Given the description of an element on the screen output the (x, y) to click on. 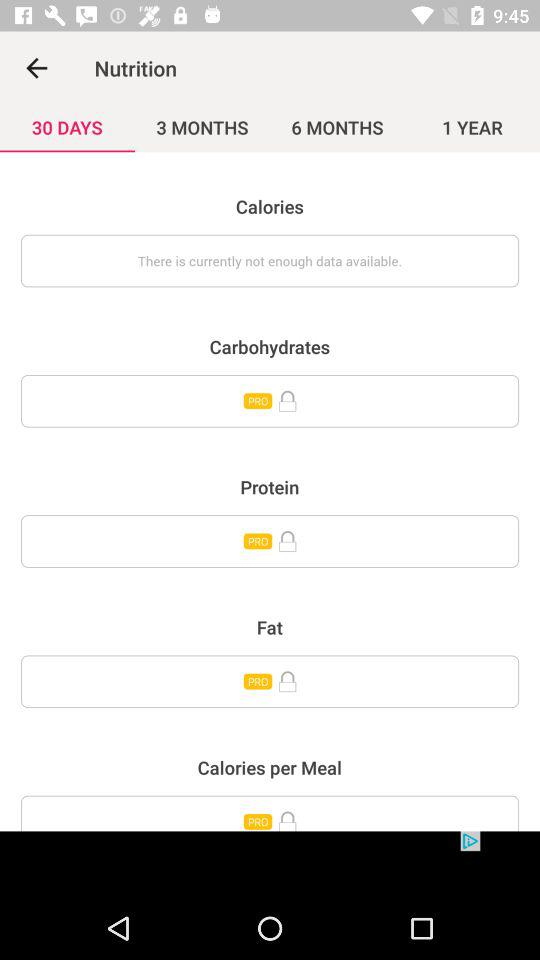
open pro plan (269, 813)
